Given the description of an element on the screen output the (x, y) to click on. 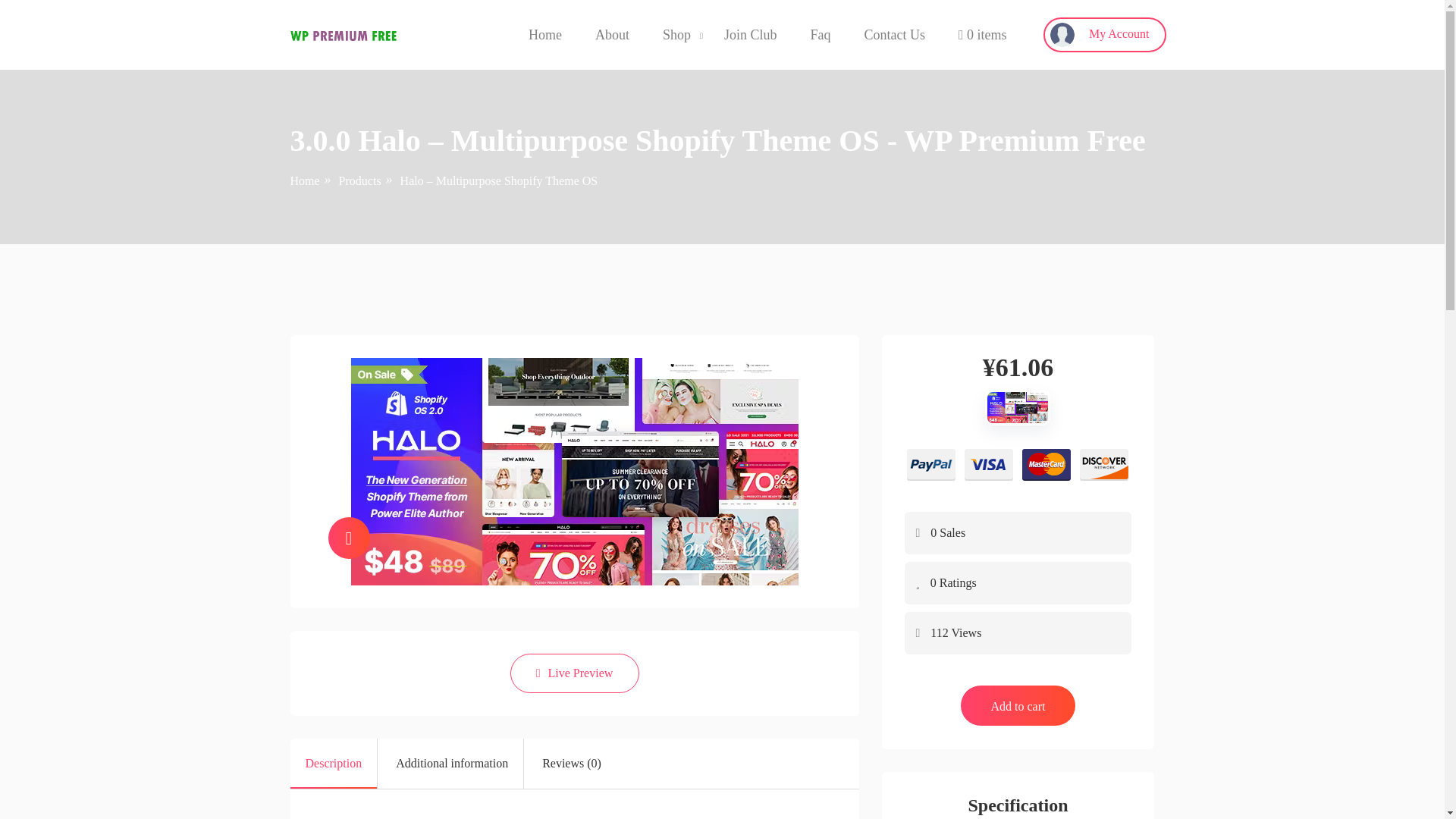
0 items (982, 34)
Shop (676, 34)
About (611, 34)
Home (545, 34)
My Account (1104, 34)
Faq (819, 34)
Contact Us (893, 34)
Join Club (750, 34)
View your shopping cart (982, 34)
